Given the description of an element on the screen output the (x, y) to click on. 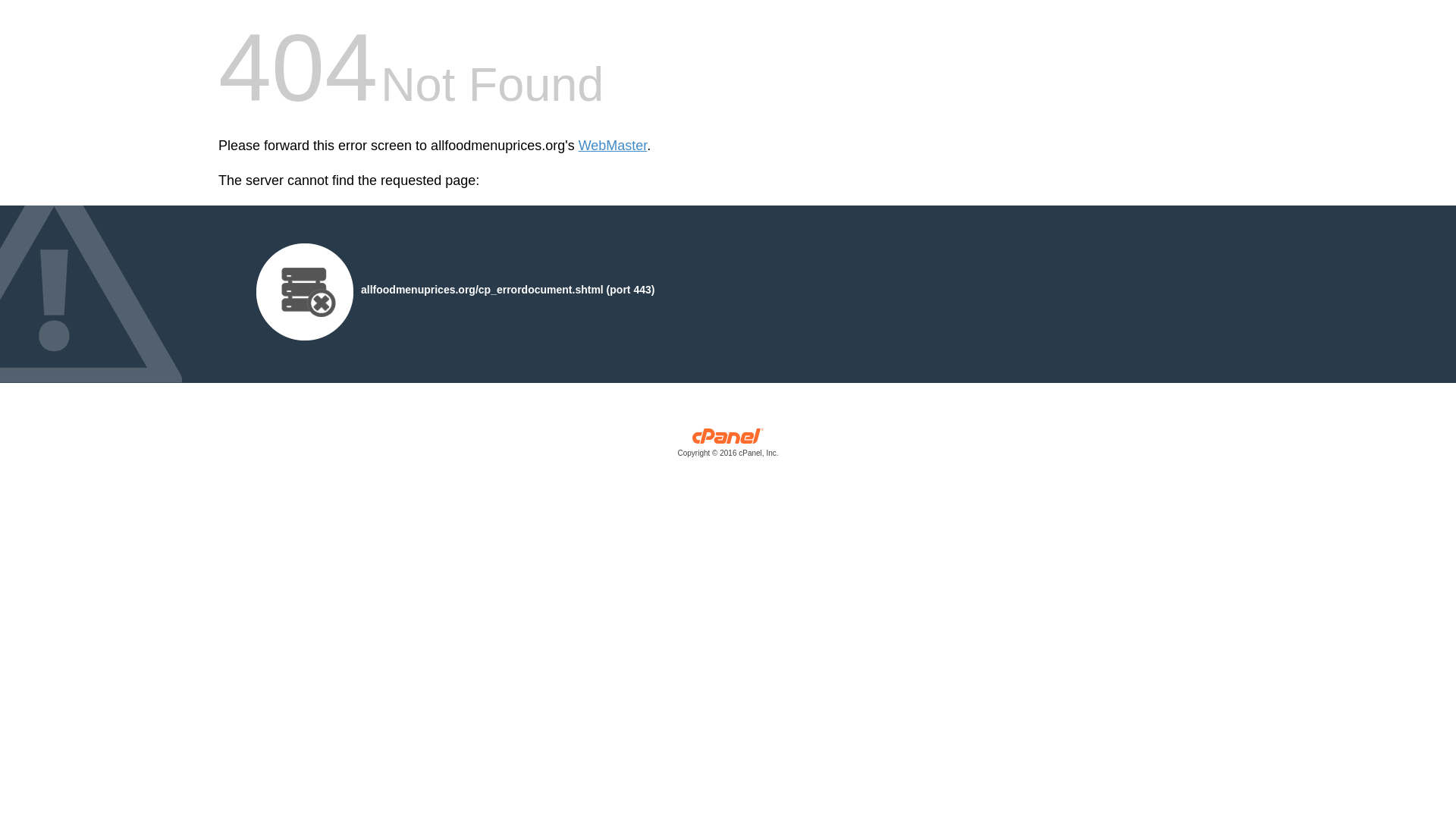
cPanel, Inc. (727, 446)
WebMaster (612, 145)
